Given the description of an element on the screen output the (x, y) to click on. 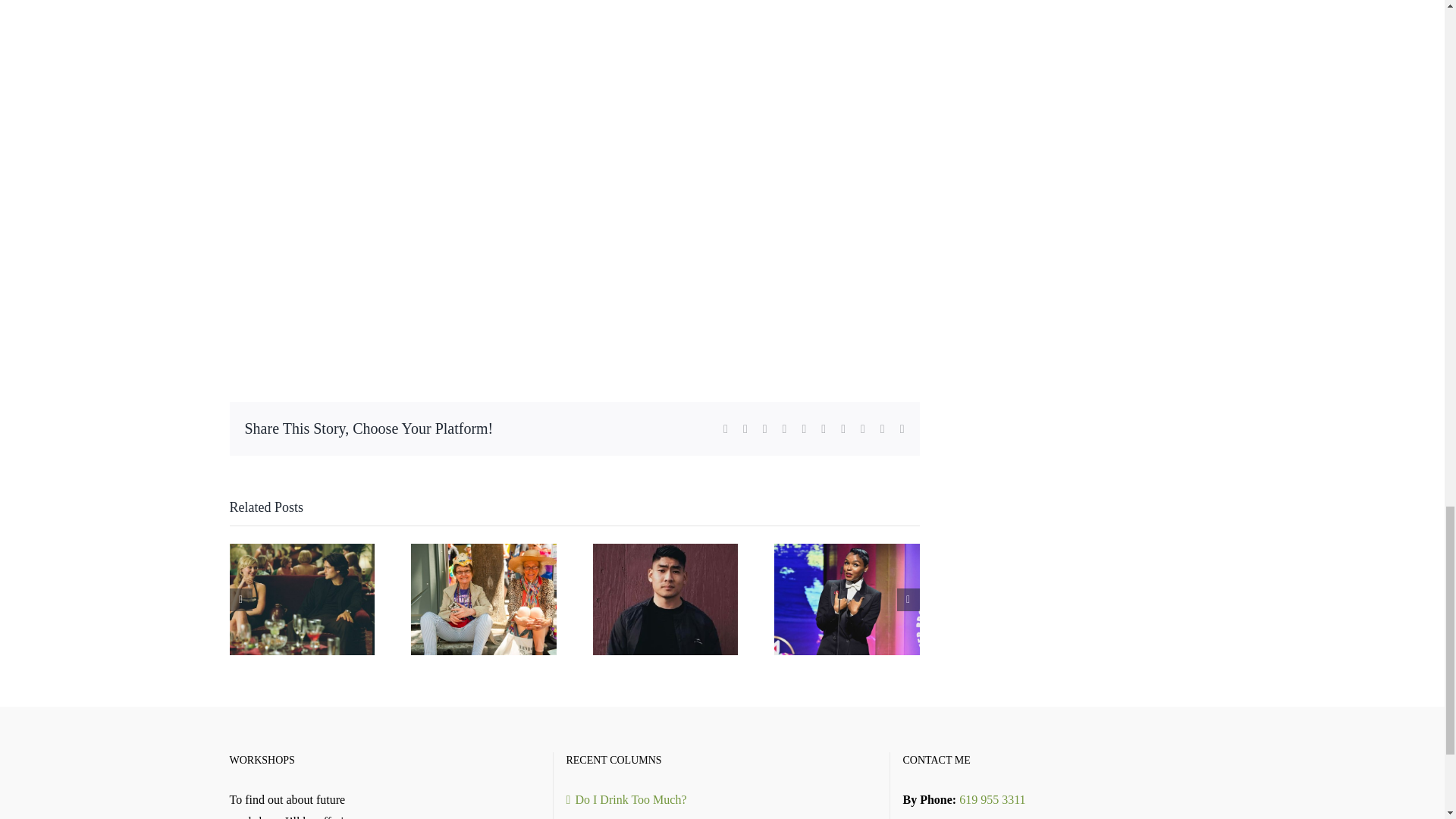
WhatsApp (804, 428)
Email (901, 428)
Facebook (725, 428)
Pinterest (843, 428)
X (745, 428)
Xing (882, 428)
Reddit (764, 428)
LinkedIn (785, 428)
Vk (862, 428)
Tumblr (823, 428)
